Given the description of an element on the screen output the (x, y) to click on. 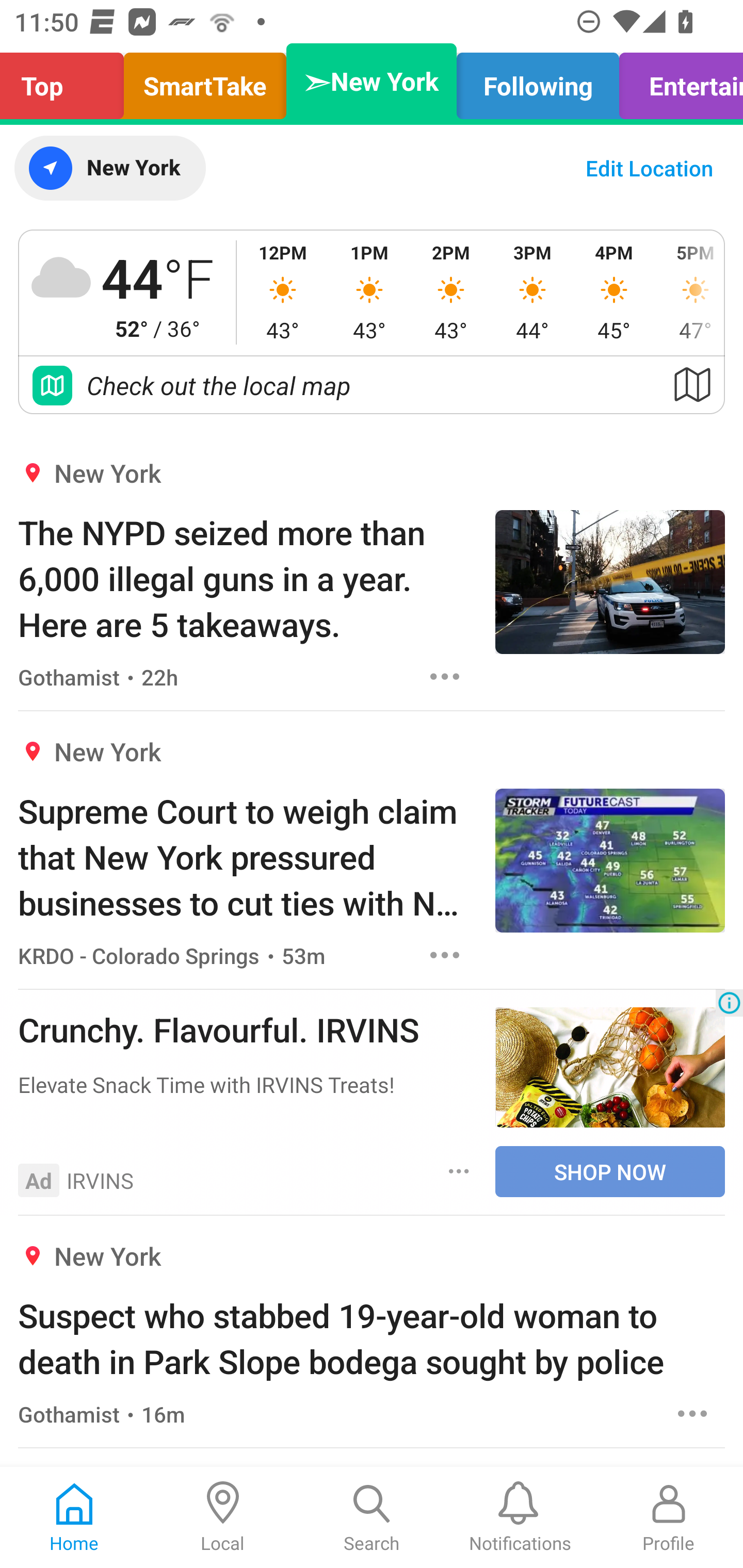
Top (67, 81)
SmartTake (204, 81)
➣New York (371, 81)
Following (537, 81)
New York (109, 168)
Edit Location (648, 168)
12PM 43° (282, 291)
1PM 43° (369, 291)
2PM 43° (450, 291)
3PM 44° (532, 291)
4PM 45° (613, 291)
5PM 47° (689, 291)
Check out the local map (371, 384)
Options (444, 676)
Options (444, 954)
Ad Choices Icon (729, 1002)
Crunchy. Flavourful. IRVINS (247, 1029)
Elevate Snack Time with IRVINS Treats! (247, 1084)
SHOP NOW (610, 1171)
Options (459, 1172)
IRVINS (99, 1179)
Options (692, 1413)
Local (222, 1517)
Search (371, 1517)
Notifications (519, 1517)
Profile (668, 1517)
